Given the description of an element on the screen output the (x, y) to click on. 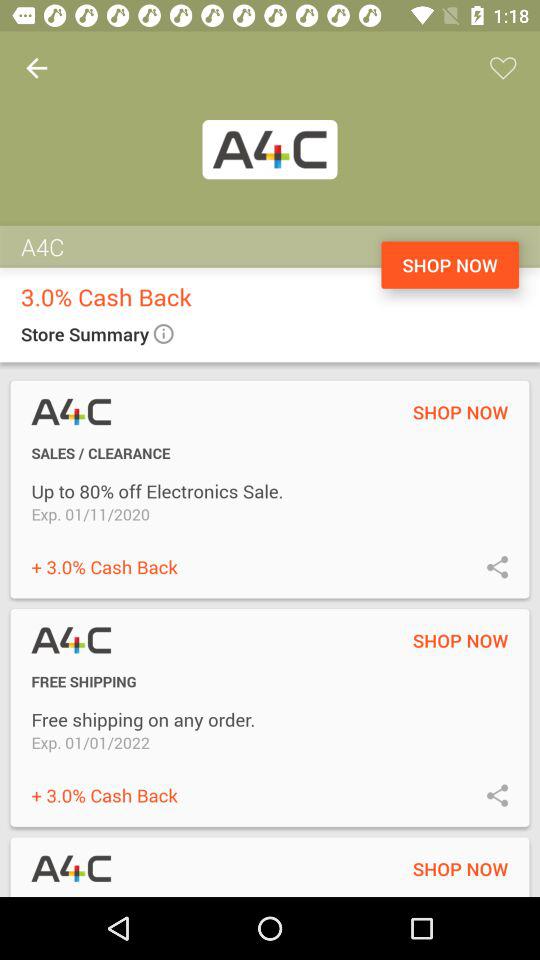
share option (497, 566)
